Given the description of an element on the screen output the (x, y) to click on. 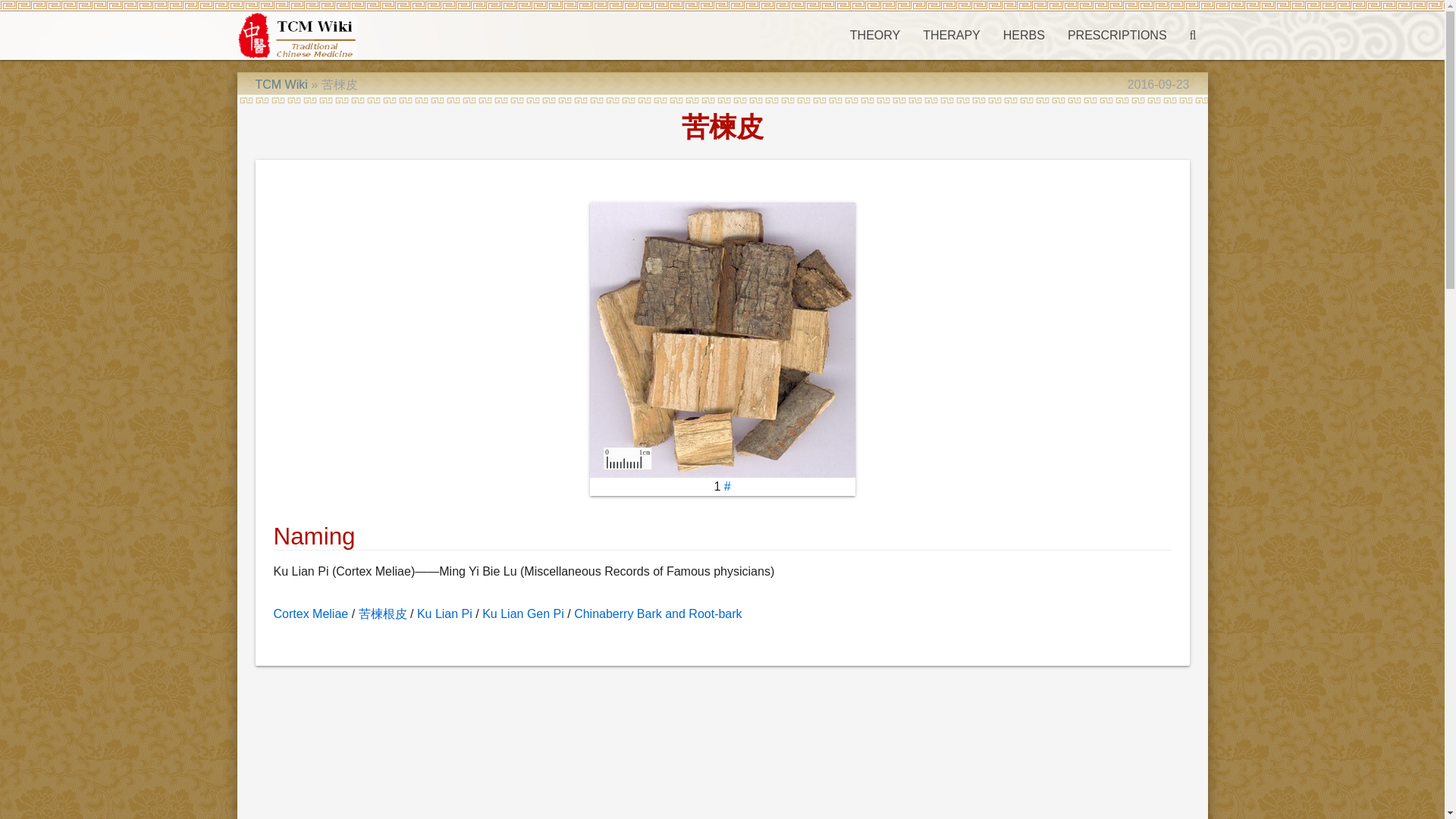
Ku Lian Gen Pi (522, 613)
Ku Lian Pi (443, 613)
HERBS (1024, 35)
Cortex Meliae (310, 613)
TCM Wiki (280, 83)
THEORY (874, 35)
Chinaberry Bark and Root-bark (657, 613)
PRESCRIPTIONS (1117, 35)
Advertisement (709, 748)
THERAPY (951, 35)
